Given the description of an element on the screen output the (x, y) to click on. 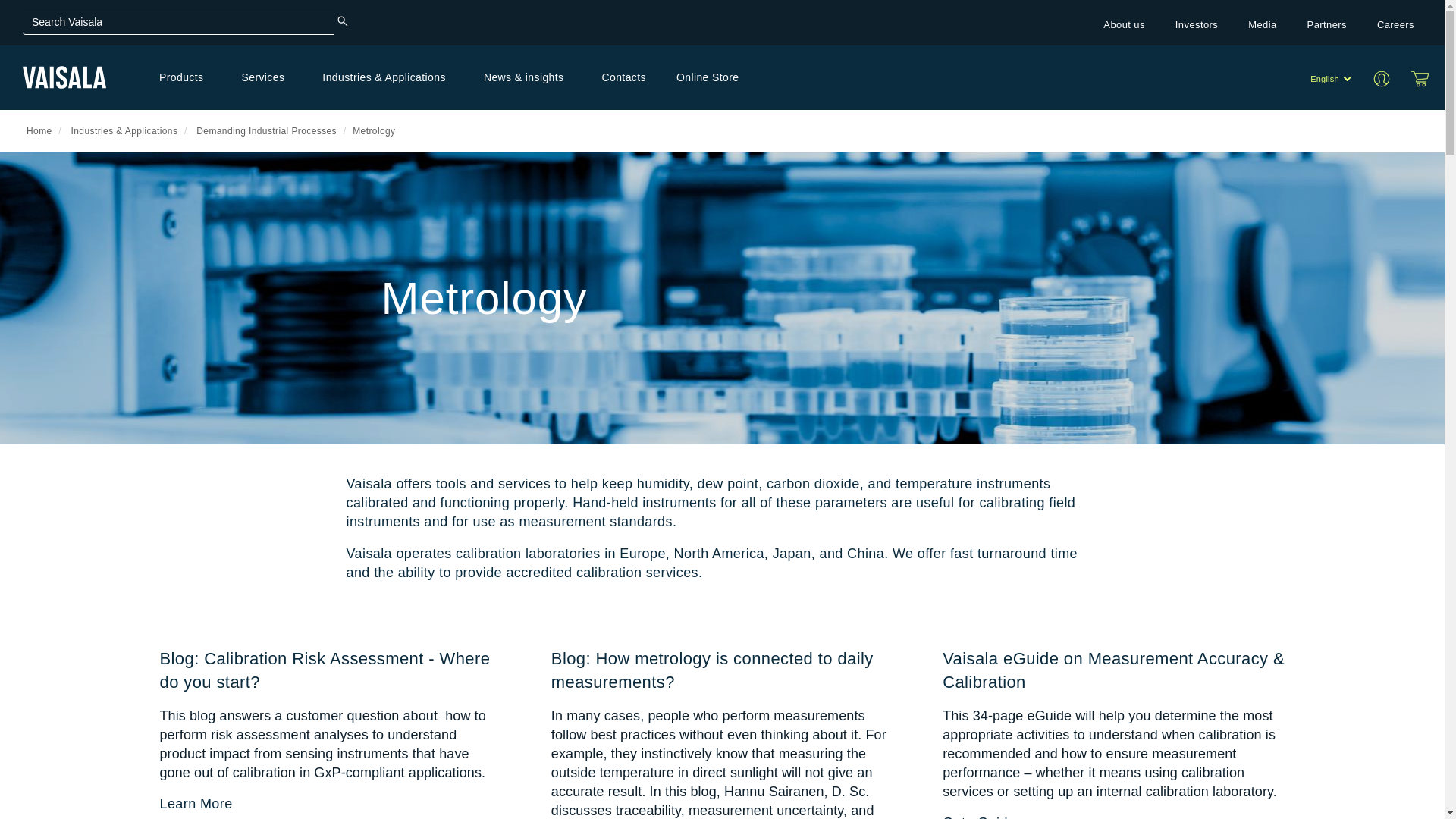
Login to MyVaisala (1386, 77)
Online Store (1419, 78)
Home (64, 77)
